Given the description of an element on the screen output the (x, y) to click on. 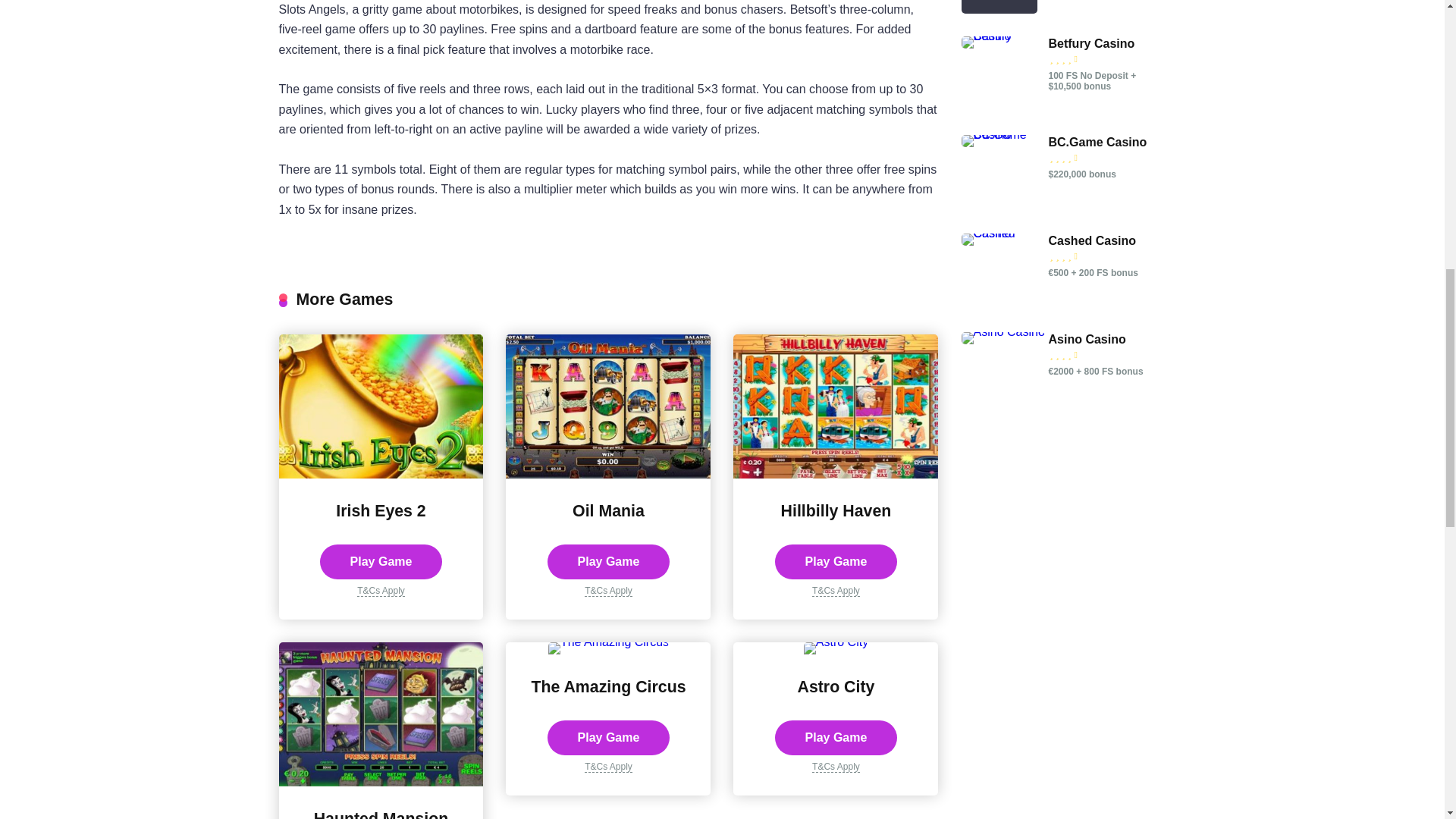
Play Game (608, 561)
Hillbilly Haven (835, 511)
Play Game (836, 561)
Hillbilly Haven (835, 473)
Play Game (381, 561)
Oil Mania (607, 473)
Play Game (381, 561)
Irish Eyes 2 (380, 511)
Oil Mania (608, 511)
The Amazing Circus (608, 687)
